Given the description of an element on the screen output the (x, y) to click on. 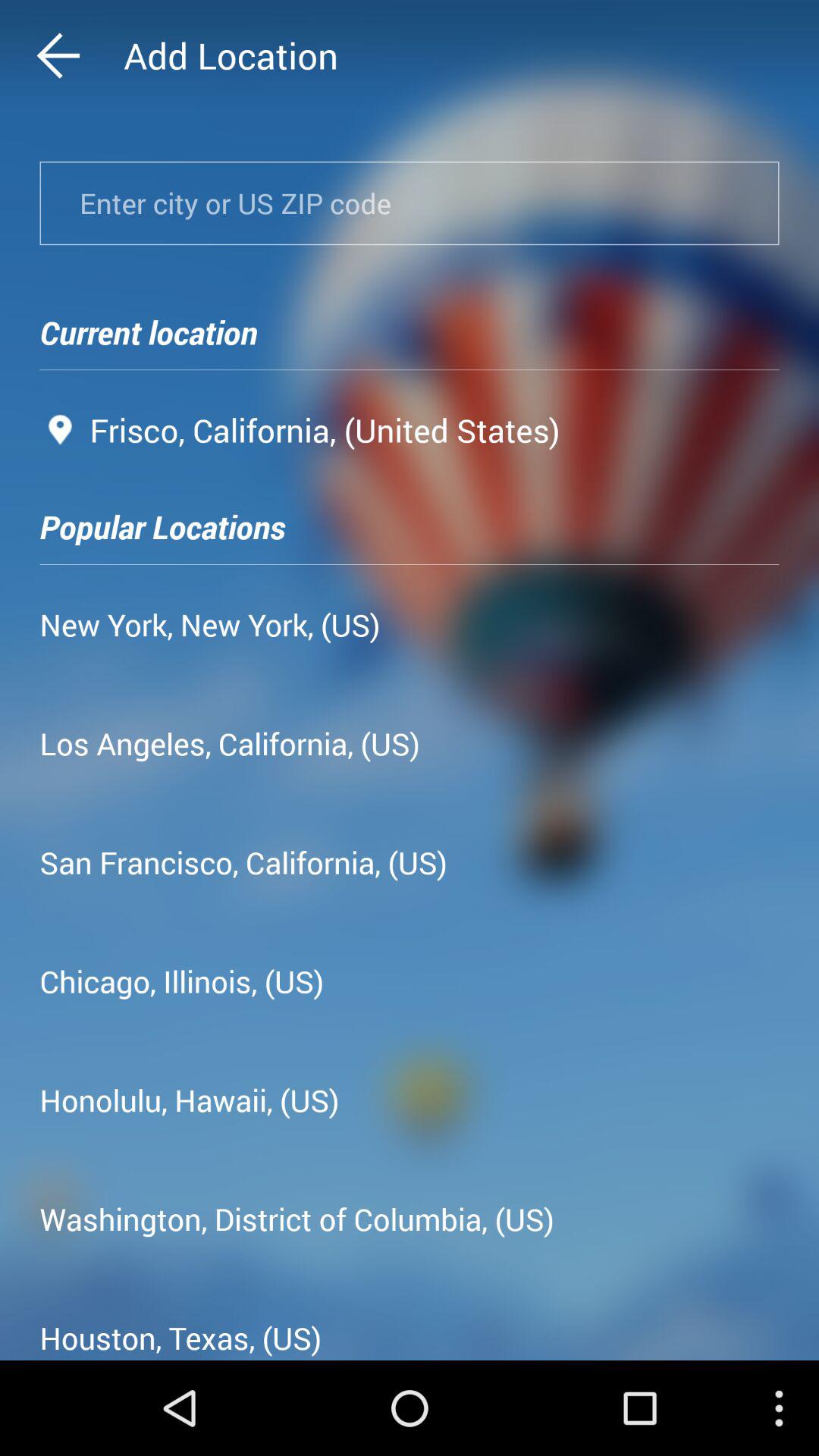
enter zipcode (409, 203)
